Given the description of an element on the screen output the (x, y) to click on. 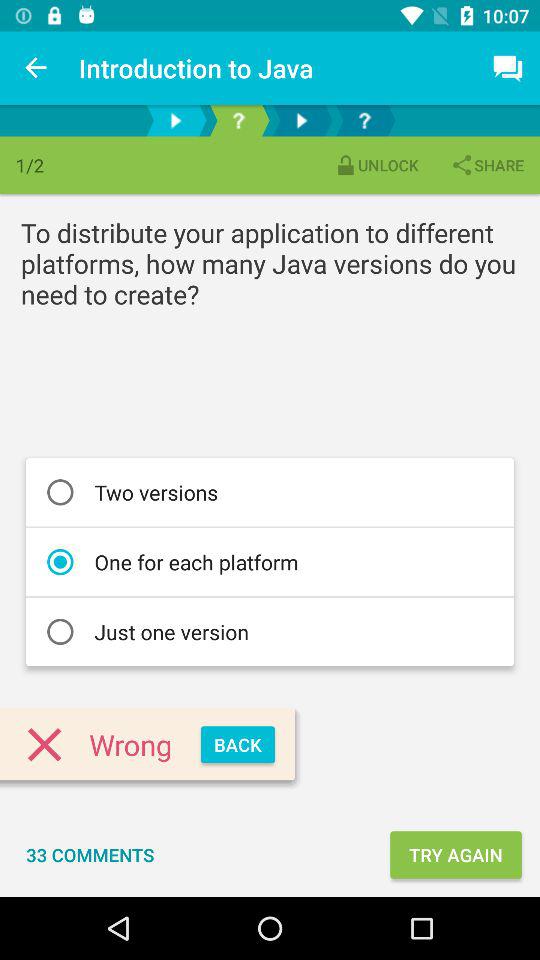
press item to the left of the introduction to java (36, 68)
